Given the description of an element on the screen output the (x, y) to click on. 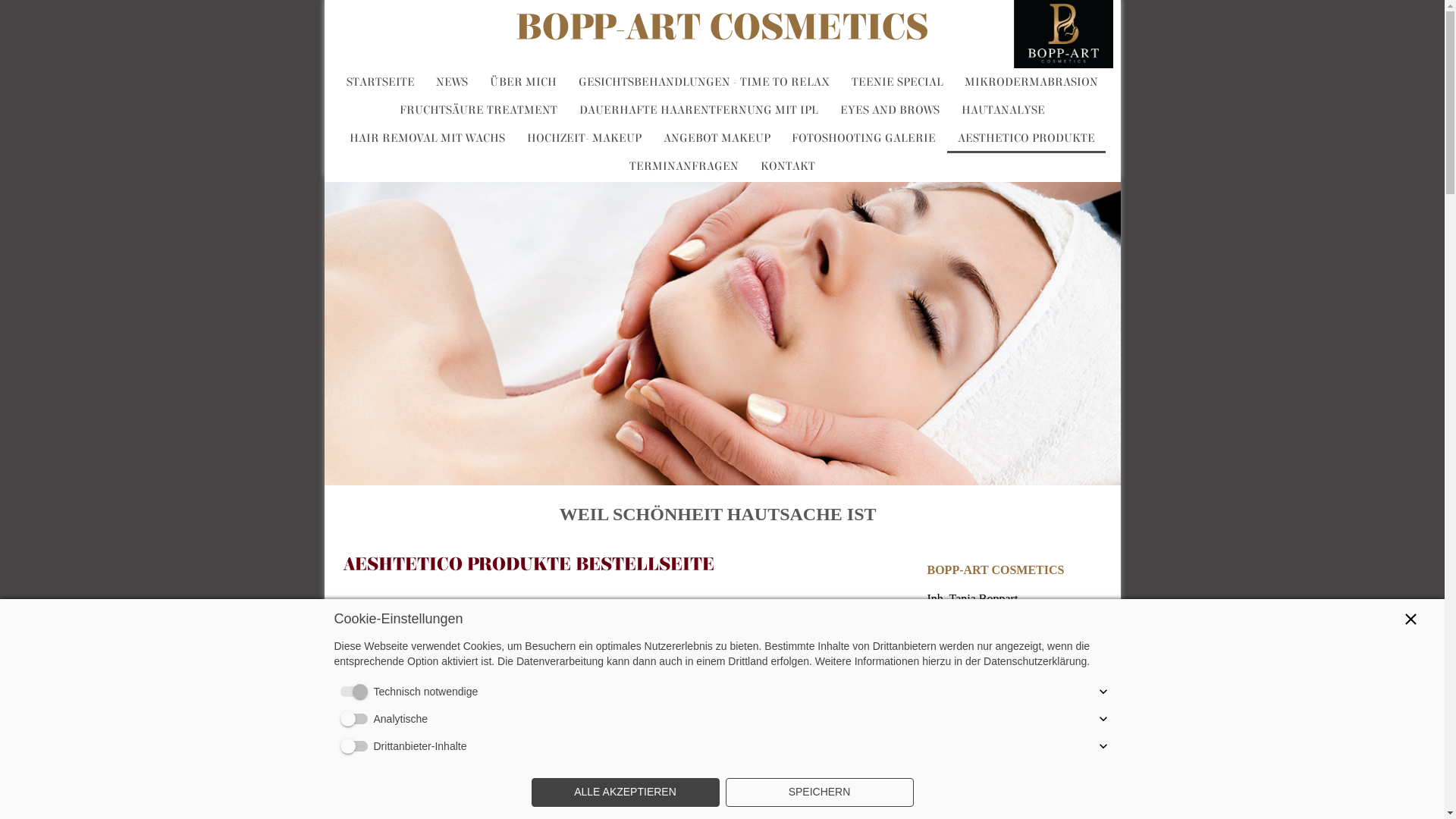
EYES AND BROWS Element type: text (889, 109)
DAUERHAFTE HAARENTFERNUNG MIT IPL Element type: text (698, 109)
HOCHZEIT- MAKEUP Element type: text (583, 137)
  Element type: text (1063, 8)
ANGEBOT MAKEUP Element type: text (716, 137)
HAIR REMOVAL MIT WACHS Element type: text (427, 137)
GESICHTSBEHANDLUNGEN - TIME TO RELAX Element type: text (703, 81)
AESTHETICO PRODUKTE Element type: text (1026, 137)
STARTSEITE Element type: text (380, 81)
ALLE AKZEPTIEREN Element type: text (624, 792)
SPEICHERN Element type: text (818, 792)
FOTOSHOOTING GALERIE Element type: text (864, 137)
MIKRODERMABRASION Element type: text (1031, 81)
KONTAKT Element type: text (787, 165)
NEWS Element type: text (452, 81)
HAUTANALYSE Element type: text (1002, 109)
TEENIE SPECIAL Element type: text (896, 81)
TERMINANFRAGEN Element type: text (683, 165)
